Given the description of an element on the screen output the (x, y) to click on. 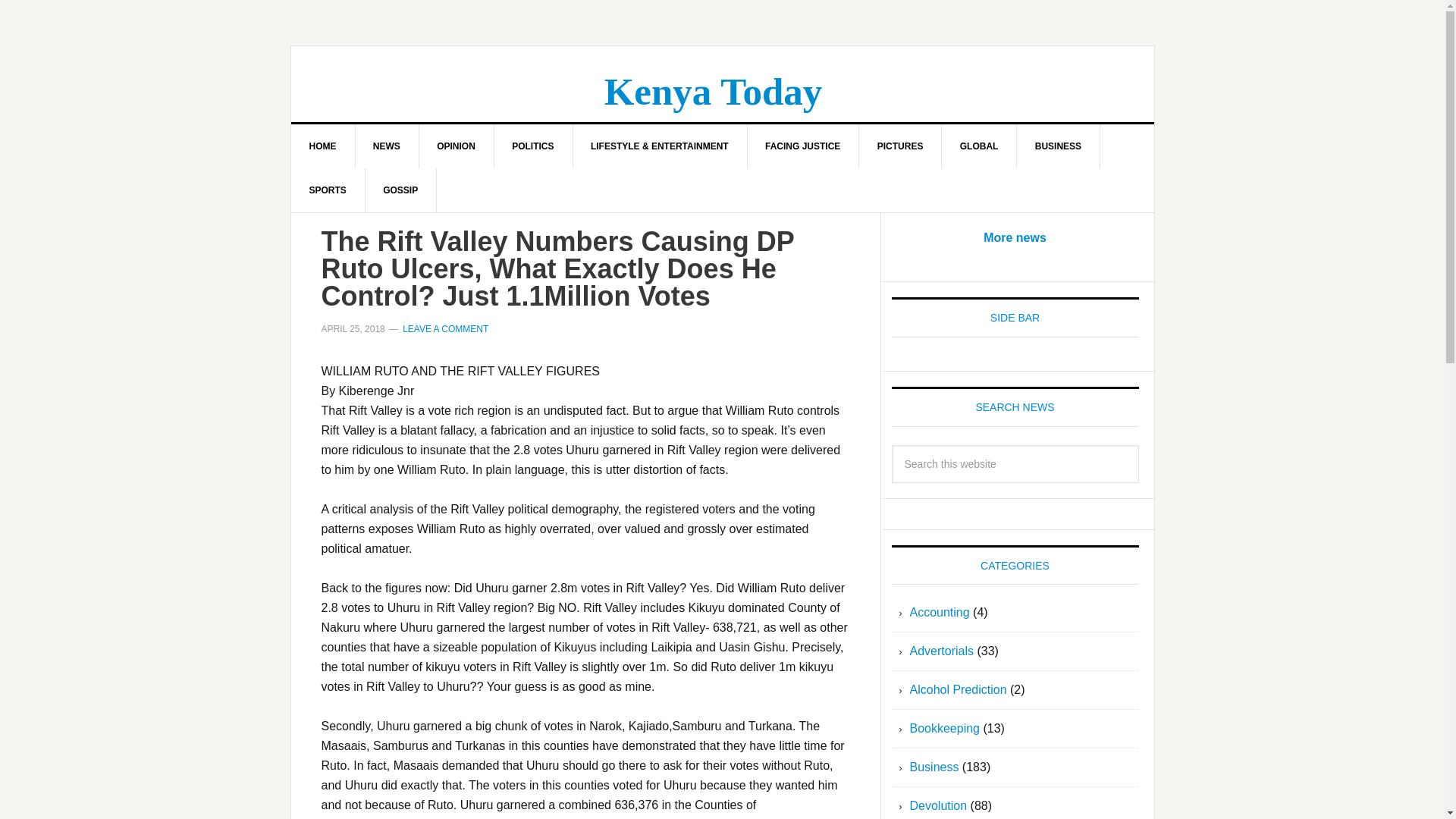
Bookkeeping (944, 727)
Business (934, 766)
Advertorials (942, 650)
PICTURES (900, 146)
GLOBAL (979, 146)
OPINION (457, 146)
NEWS (387, 146)
SPORTS (328, 190)
Alcohol Prediction (958, 689)
LEAVE A COMMENT (445, 328)
GOSSIP (400, 190)
HOME (323, 146)
BUSINESS (1058, 146)
